Given the description of an element on the screen output the (x, y) to click on. 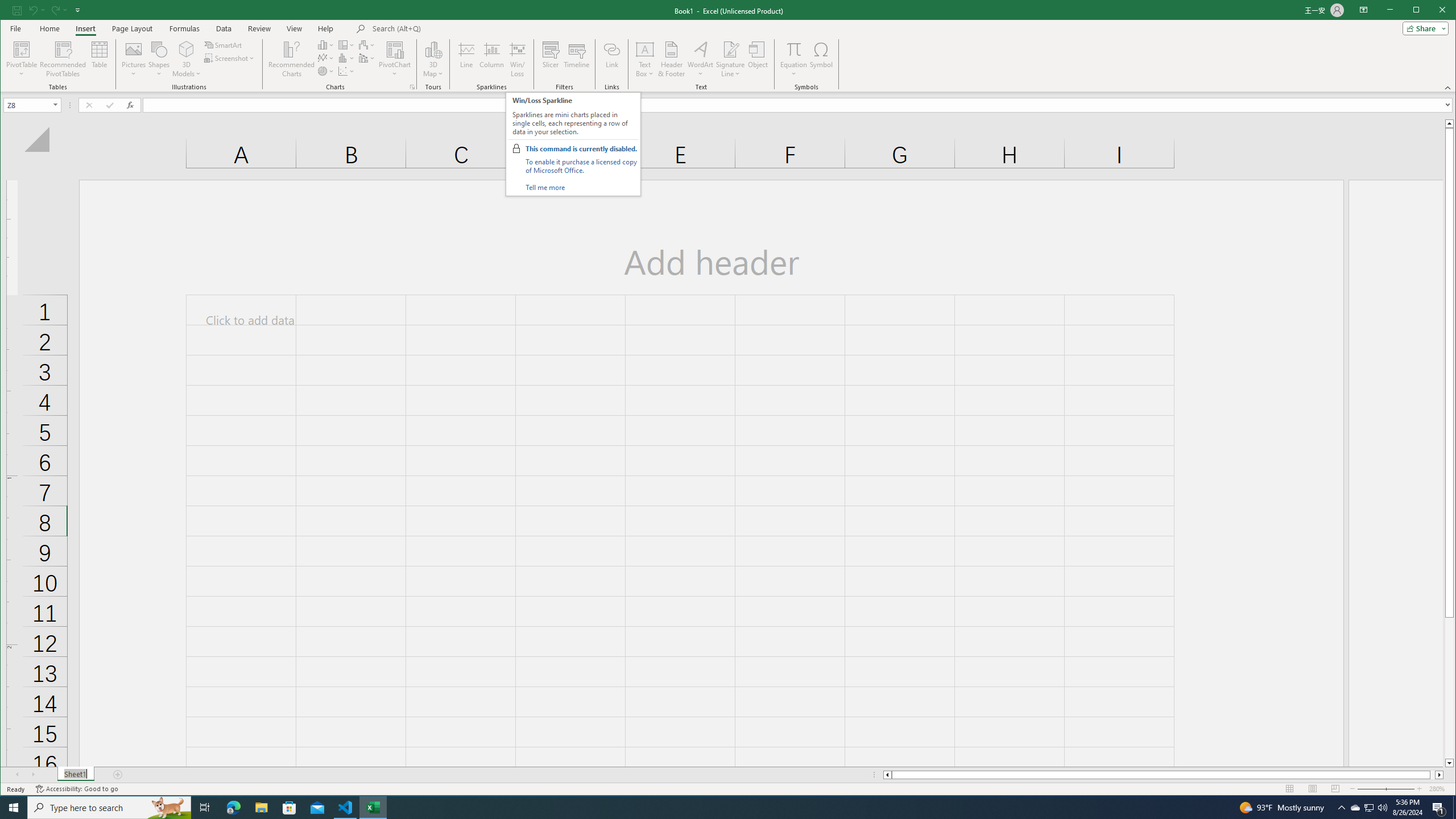
Action Center, 1 new notification (1439, 807)
PivotChart (394, 48)
Signature Line (729, 59)
Header & Footer... (670, 59)
This command is currently disabled. (580, 148)
3D Models (186, 59)
Insert Waterfall, Funnel, Stock, Surface, or Radar Chart (366, 44)
Insert Scatter (X, Y) or Bubble Chart (346, 70)
Pictures (133, 59)
